Given the description of an element on the screen output the (x, y) to click on. 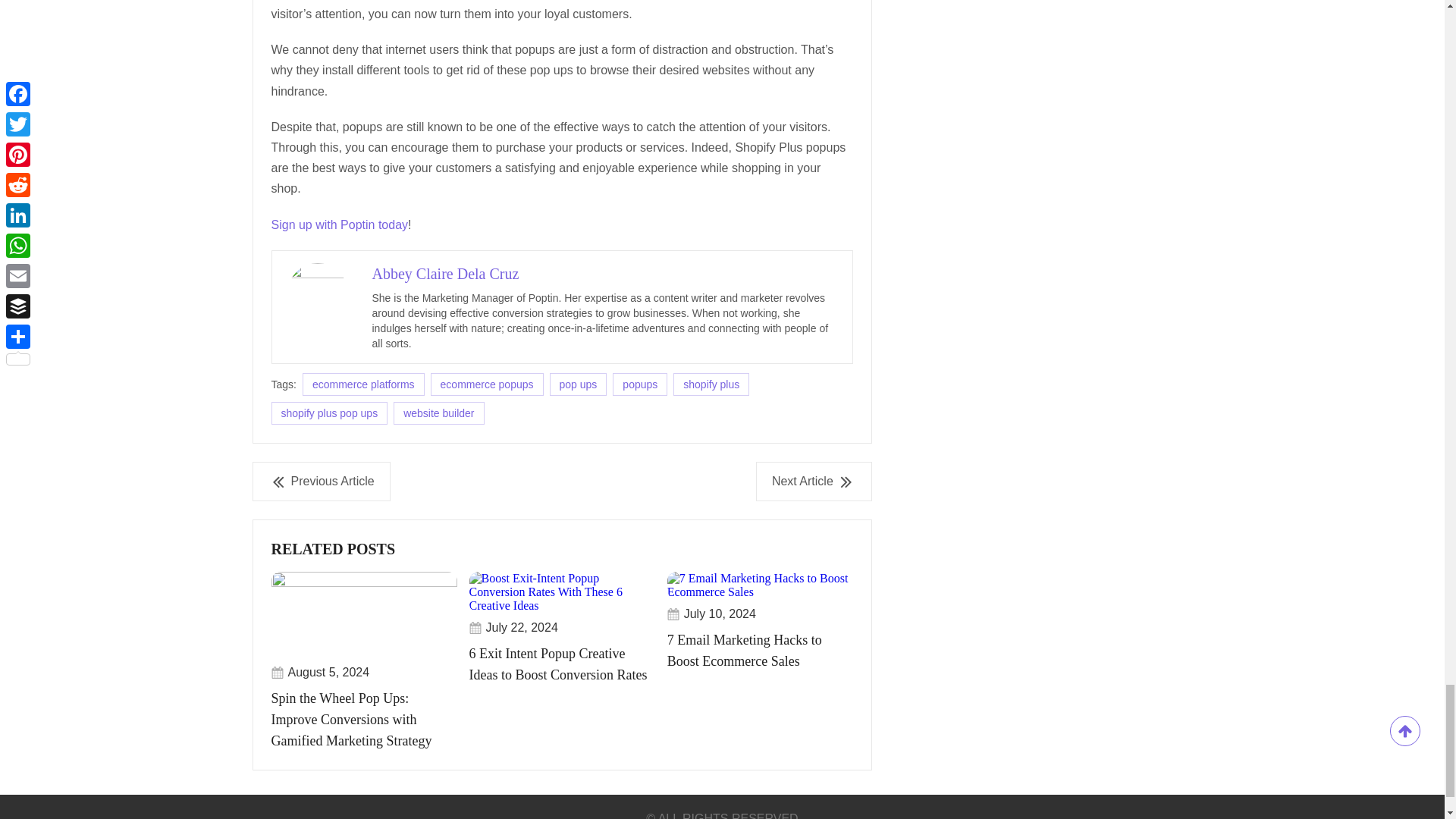
Feature image (759, 584)
Previous Article (320, 481)
ecommerce platforms (363, 384)
7 Email Marketing Hacks to Boost Ecommerce Sales (759, 628)
ecommerce popups (486, 384)
Feature image (561, 591)
Feature image (363, 614)
shopify plus pop ups (329, 413)
